Given the description of an element on the screen output the (x, y) to click on. 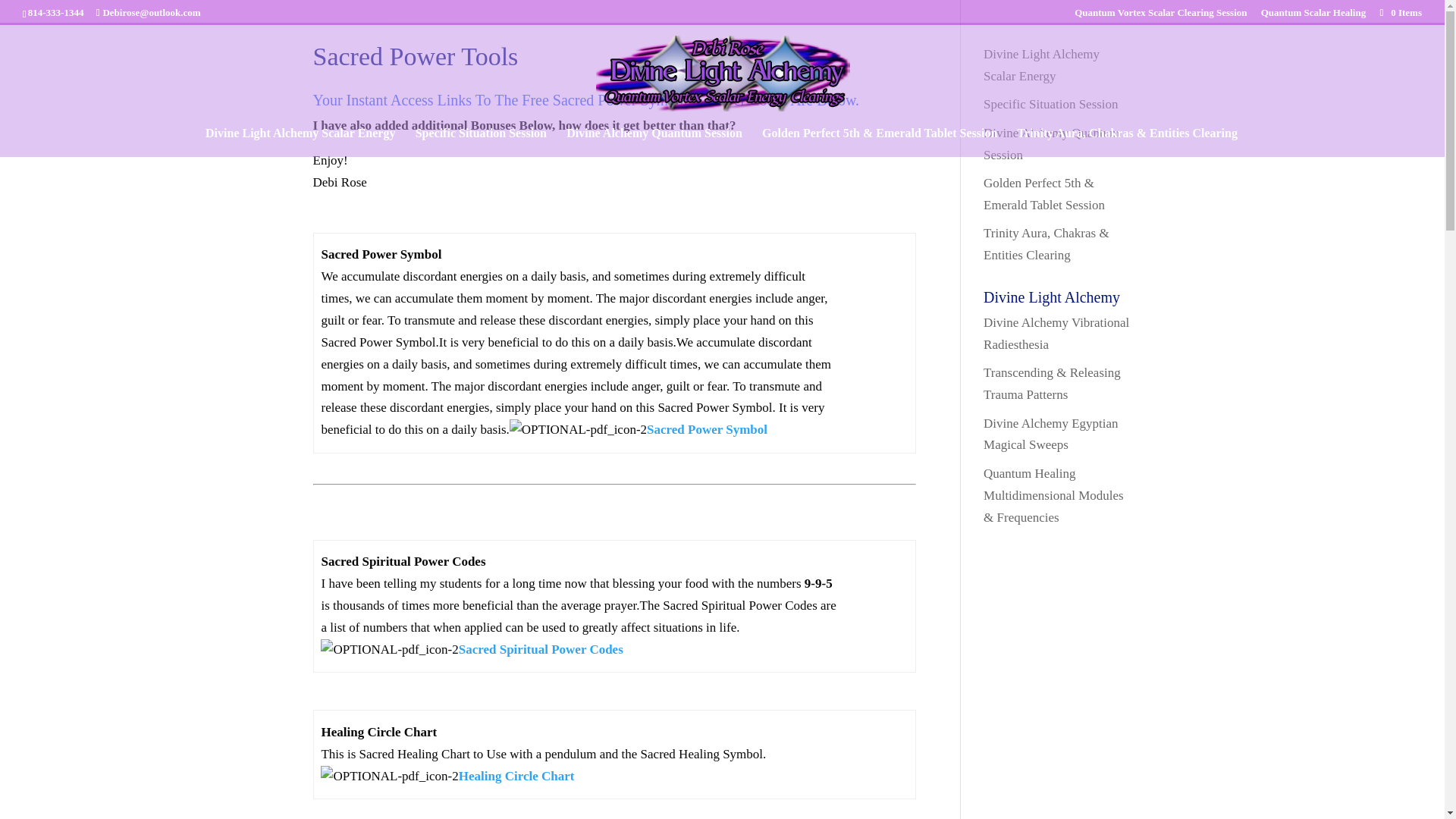
0 Items (1399, 12)
Quantum Scalar Healing (1312, 16)
Healing Circle Chart (516, 775)
Sacred Spiritual Power Codes (540, 649)
Divine Light Alchemy Scalar Energy (299, 142)
Divine Light Alchemy Scalar Energy (1041, 64)
Divine Alchemy Quantum Session (1051, 144)
Divine Alchemy Egyptian Magical Sweeps (1051, 434)
Divine Alchemy Vibrational Radiesthesia (1056, 333)
Divine Alchemy Quantum Session (654, 142)
Specific Situation Session (480, 142)
Sacred Power Symbol (706, 429)
